Given the description of an element on the screen output the (x, y) to click on. 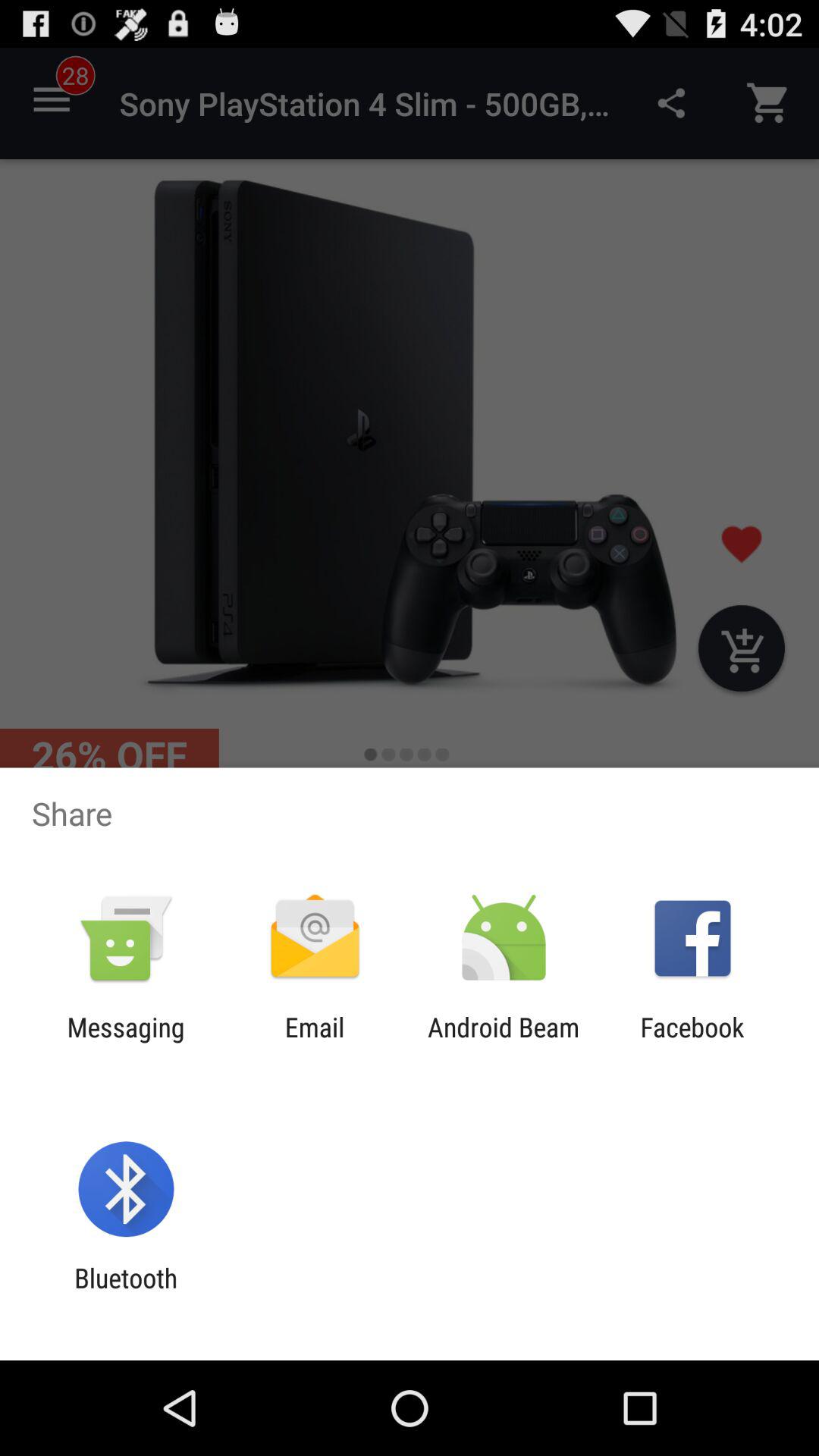
turn off the app next to the android beam app (314, 1042)
